Given the description of an element on the screen output the (x, y) to click on. 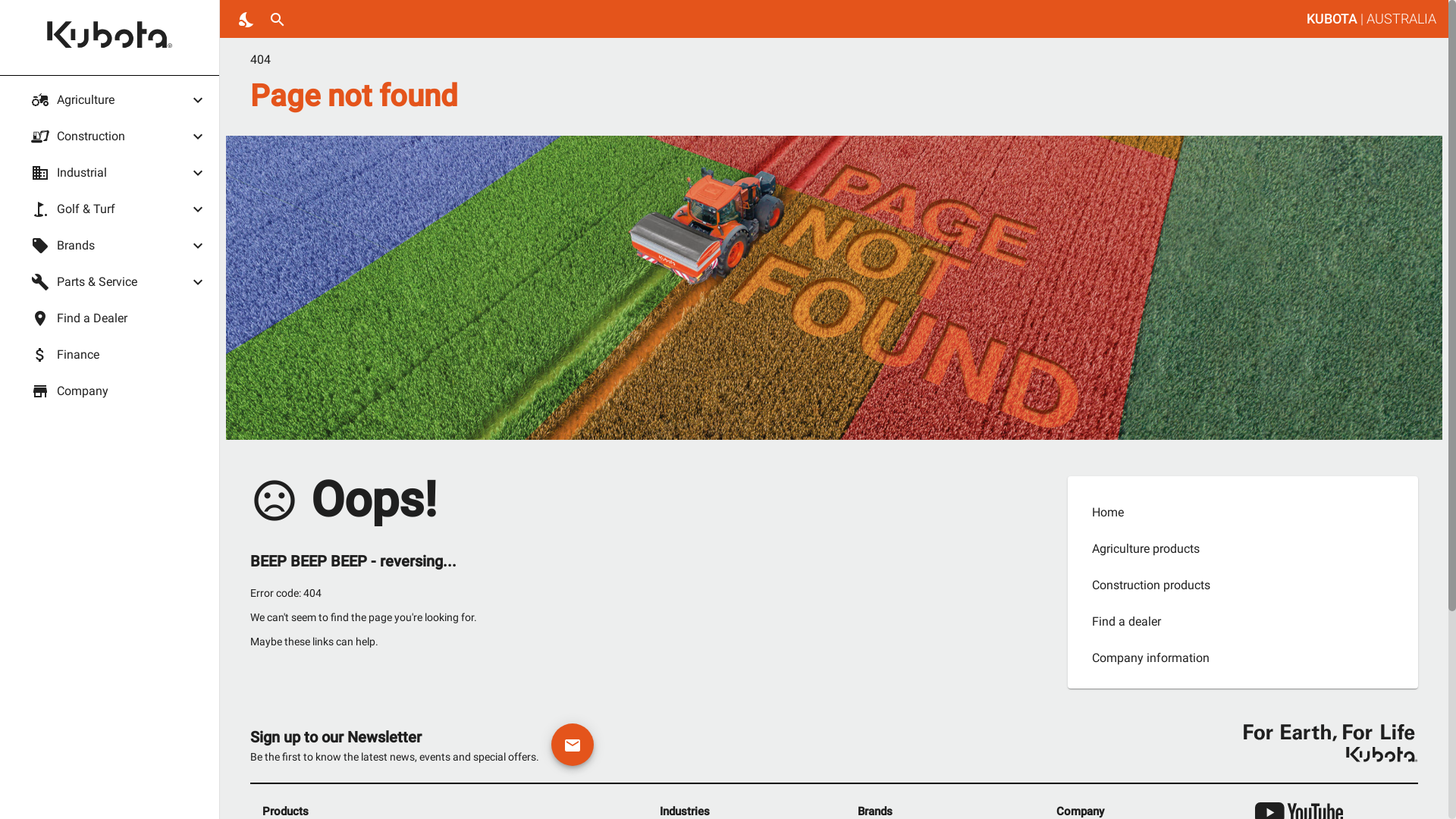
agriculture
Agriculture
expand_more Element type: text (118, 99)
search Element type: text (277, 18)
Find a dealer Element type: text (1242, 621)
nights_stay Element type: text (247, 18)
Home Element type: text (1242, 512)
Company information Element type: text (1242, 658)
email Element type: text (572, 744)
place
Find a Dealer Element type: text (118, 318)
golf_course
Golf & Turf
expand_more Element type: text (118, 209)
Construction
expand_more Element type: text (118, 136)
Construction products Element type: text (1242, 585)
business
Industrial
expand_more Element type: text (118, 172)
build
Parts & Service
expand_more Element type: text (118, 281)
Agriculture products Element type: text (1242, 548)
local_offer
Brands
expand_more Element type: text (118, 245)
store
Company Element type: text (118, 391)
attach_money
Finance Element type: text (118, 354)
